Given the description of an element on the screen output the (x, y) to click on. 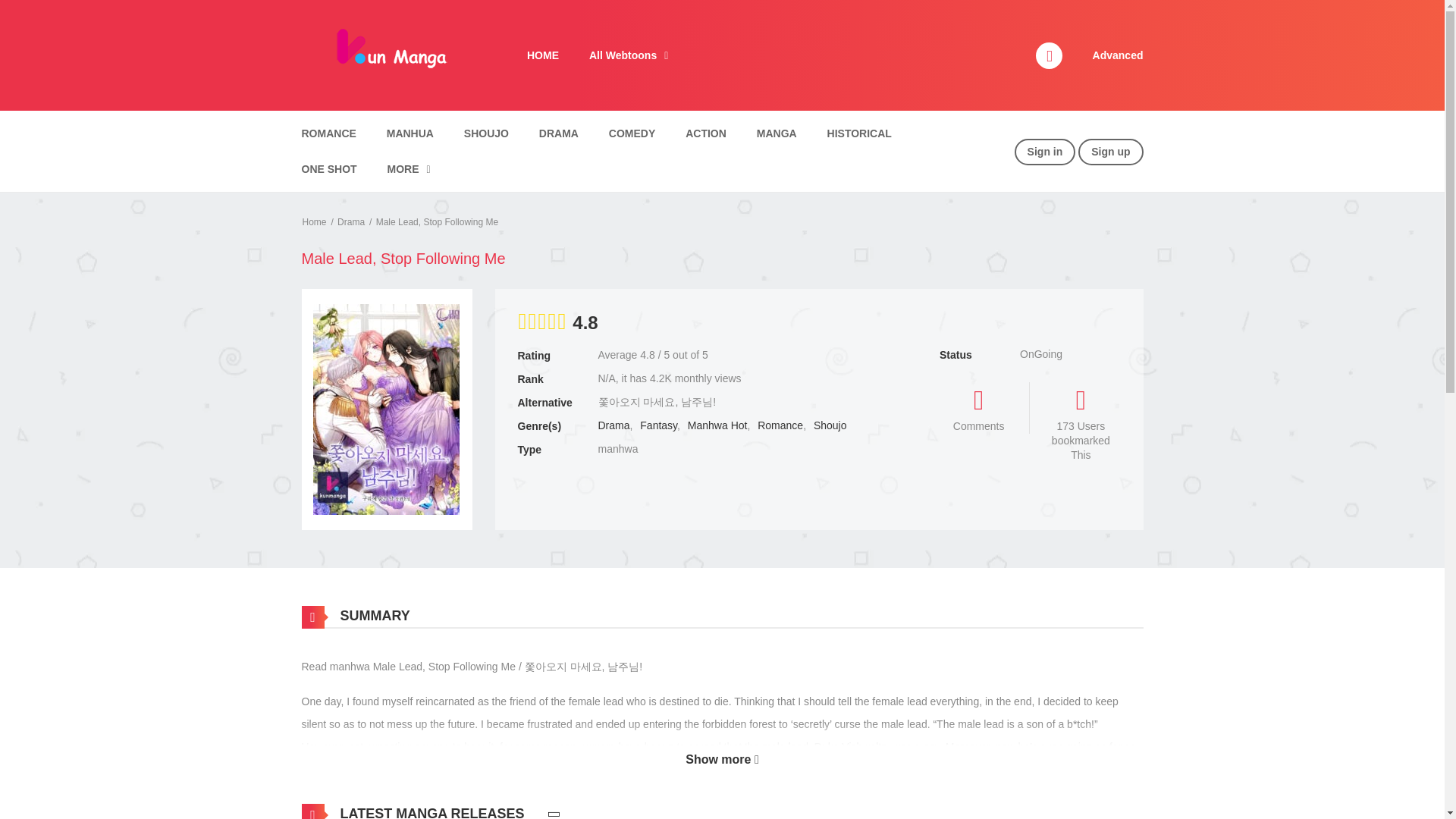
Change Order (553, 811)
Kun Manga (389, 54)
MANHUA (410, 133)
MORE (409, 169)
HISTORICAL (858, 133)
ONE SHOT (328, 169)
MANGA (776, 133)
ACTION (705, 133)
SHOUJO (486, 133)
HOME (542, 55)
Search (970, 9)
DRAMA (558, 133)
COMEDY (631, 133)
ROMANCE (328, 133)
All Webtoons (627, 55)
